Given the description of an element on the screen output the (x, y) to click on. 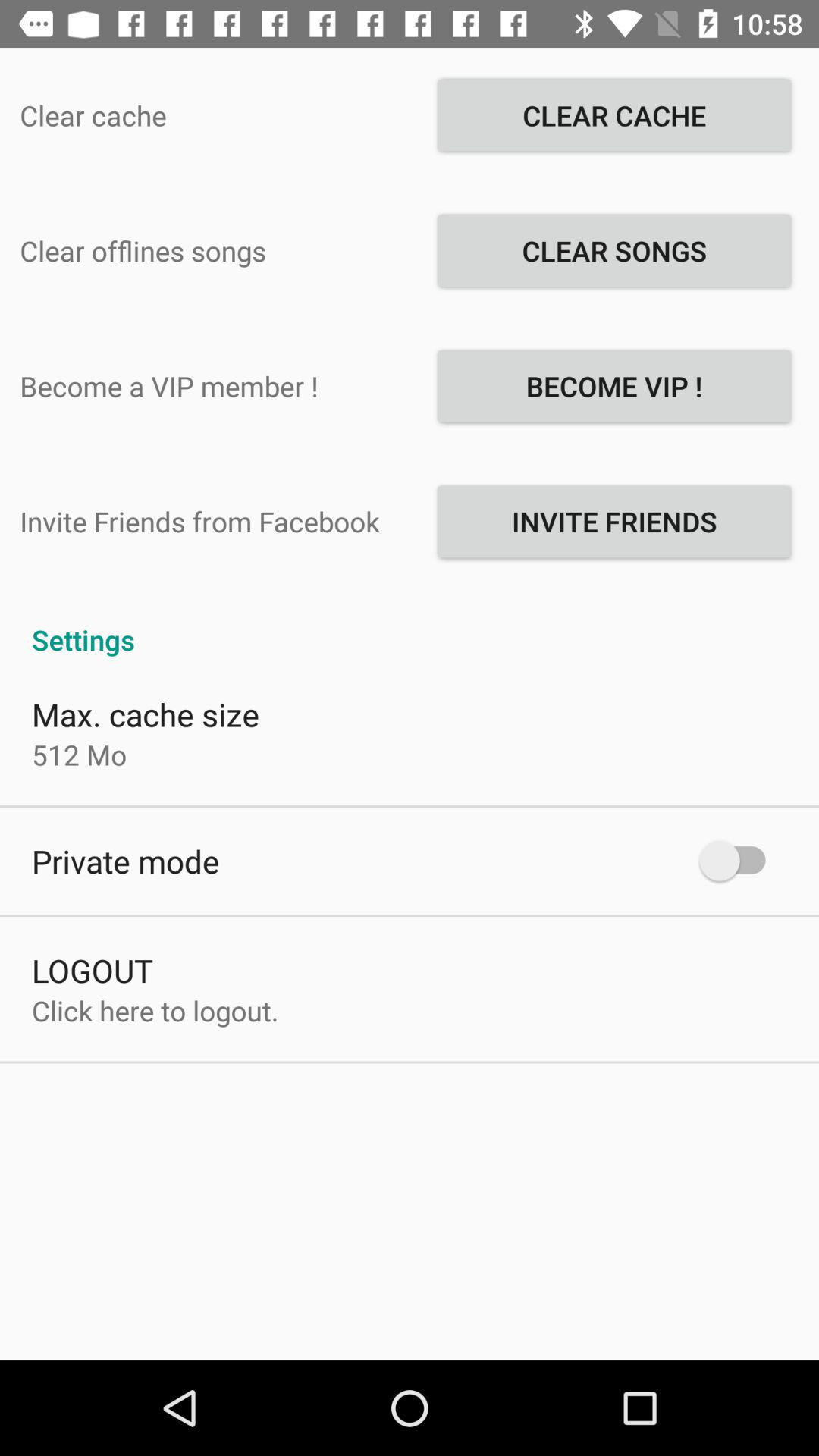
swipe until settings icon (409, 623)
